Given the description of an element on the screen output the (x, y) to click on. 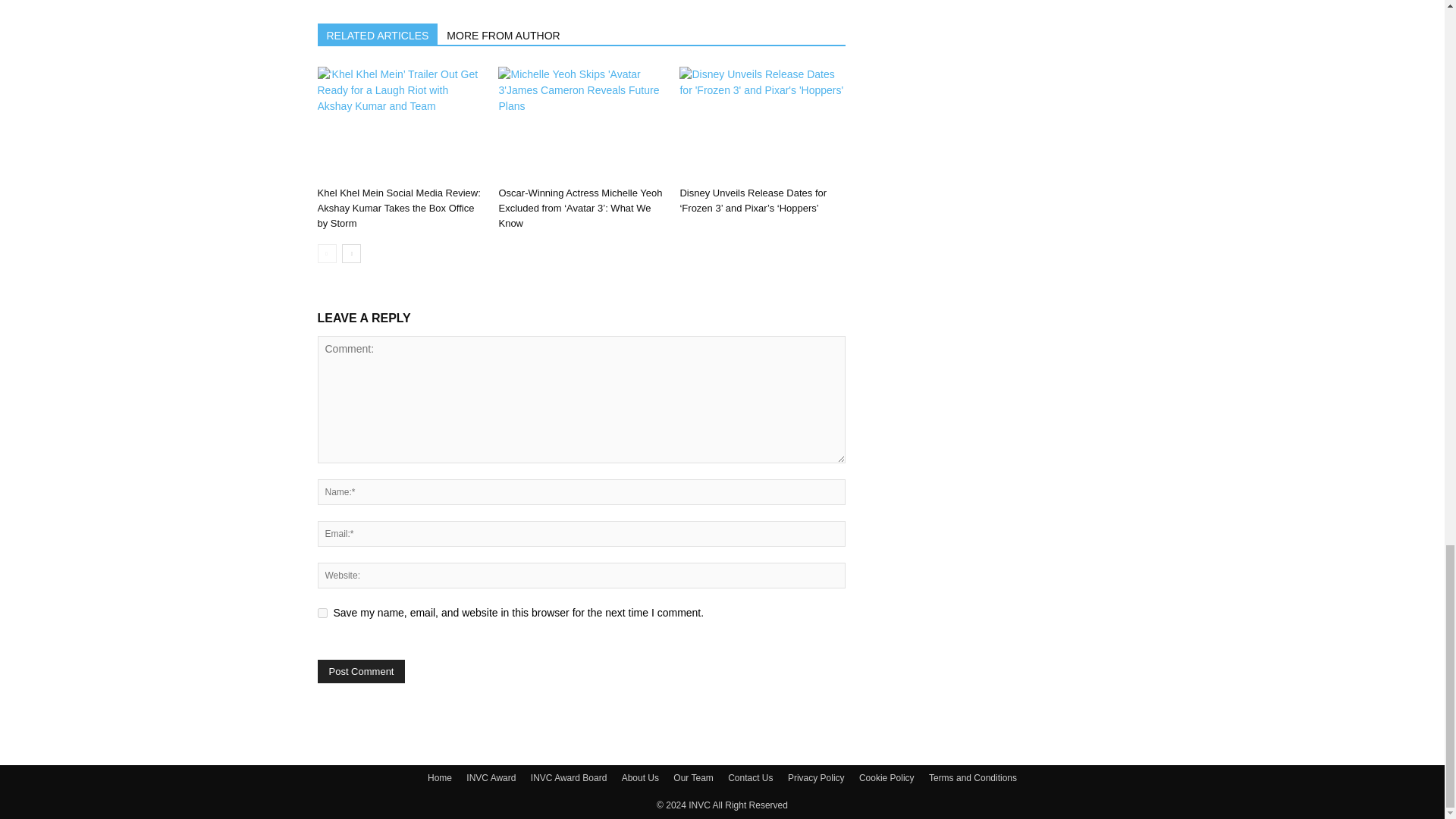
Post Comment (360, 671)
yes (321, 613)
